Given the description of an element on the screen output the (x, y) to click on. 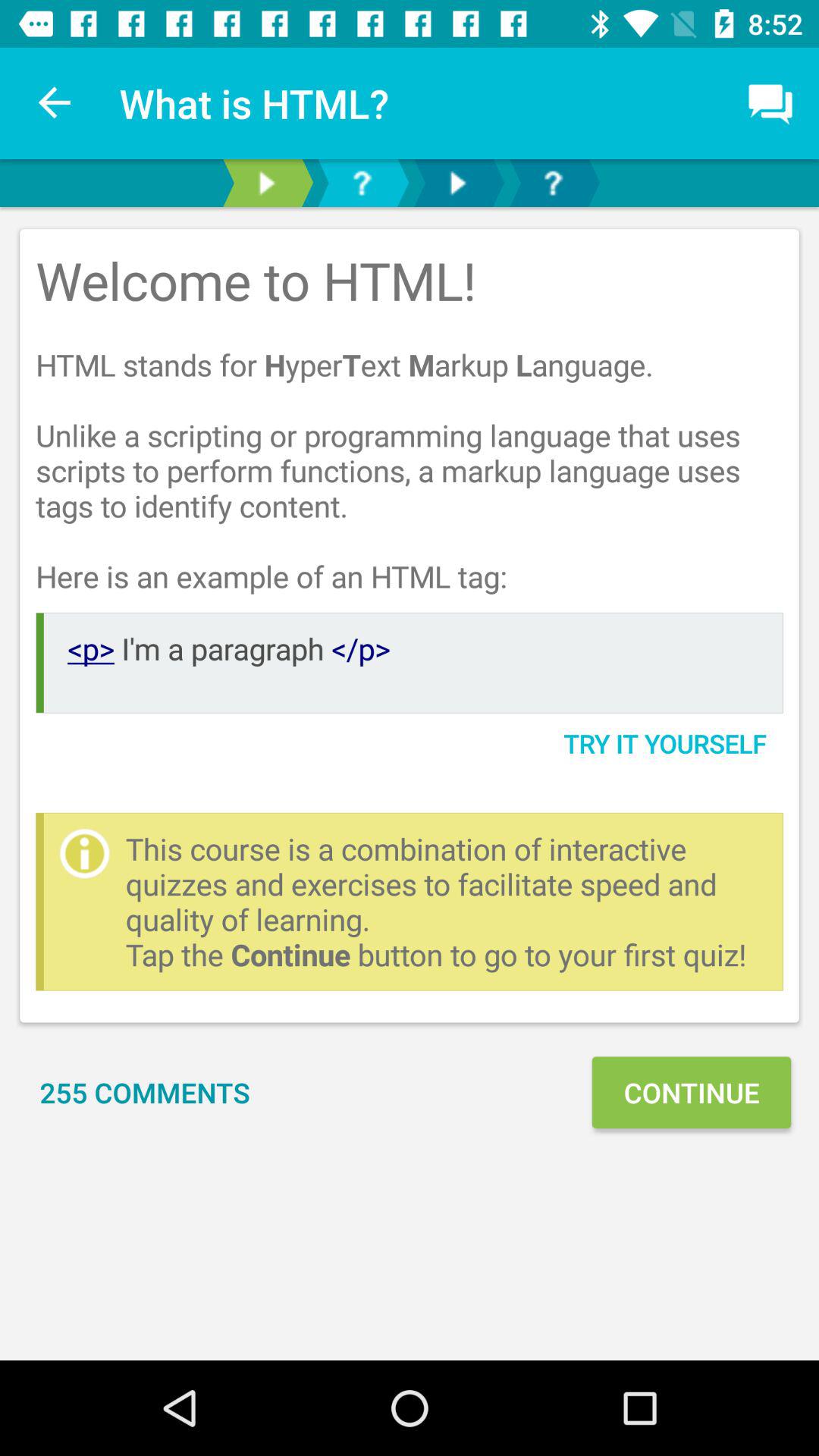
two questions ahead (552, 183)
